Given the description of an element on the screen output the (x, y) to click on. 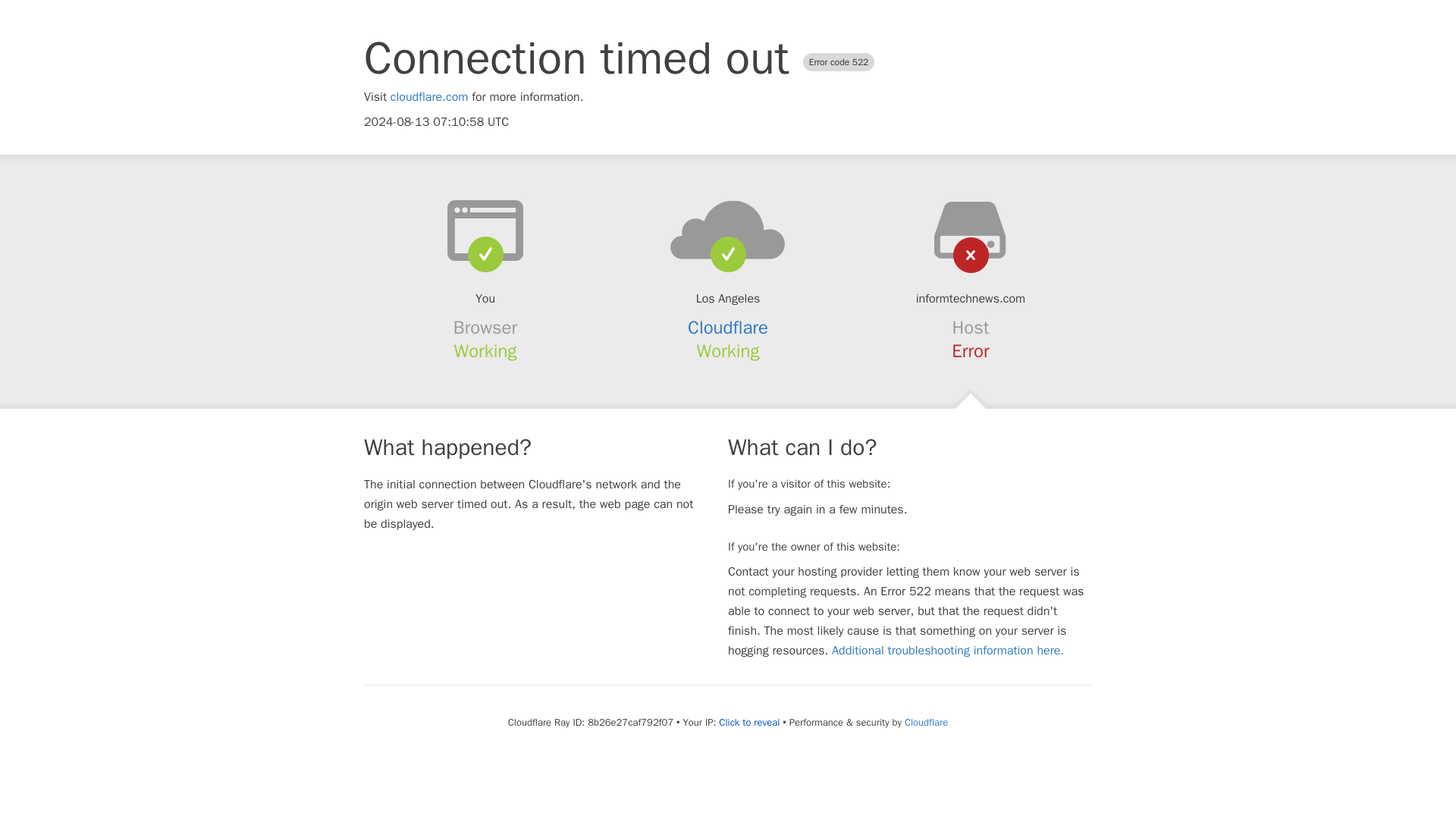
Click to reveal (748, 722)
cloudflare.com (429, 96)
Additional troubleshooting information here. (947, 650)
Cloudflare (727, 327)
Cloudflare (925, 721)
